Given the description of an element on the screen output the (x, y) to click on. 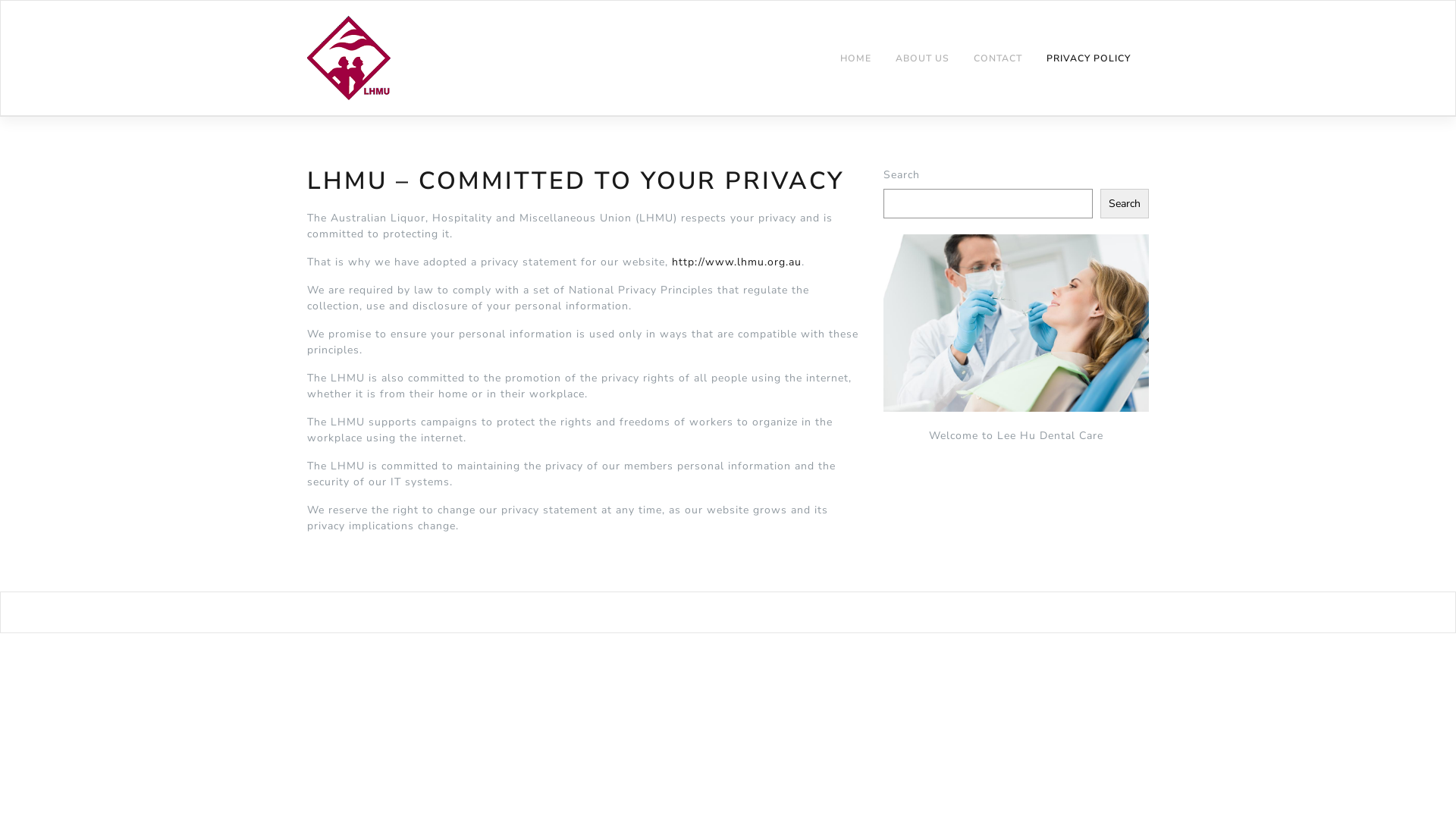
CONTACT Element type: text (997, 58)
http://www.lhmu.org.au Element type: text (736, 261)
PRIVACY POLICY Element type: text (1088, 58)
Search Element type: text (1124, 203)
ABOUT US Element type: text (922, 58)
HOME Element type: text (855, 58)
